Given the description of an element on the screen output the (x, y) to click on. 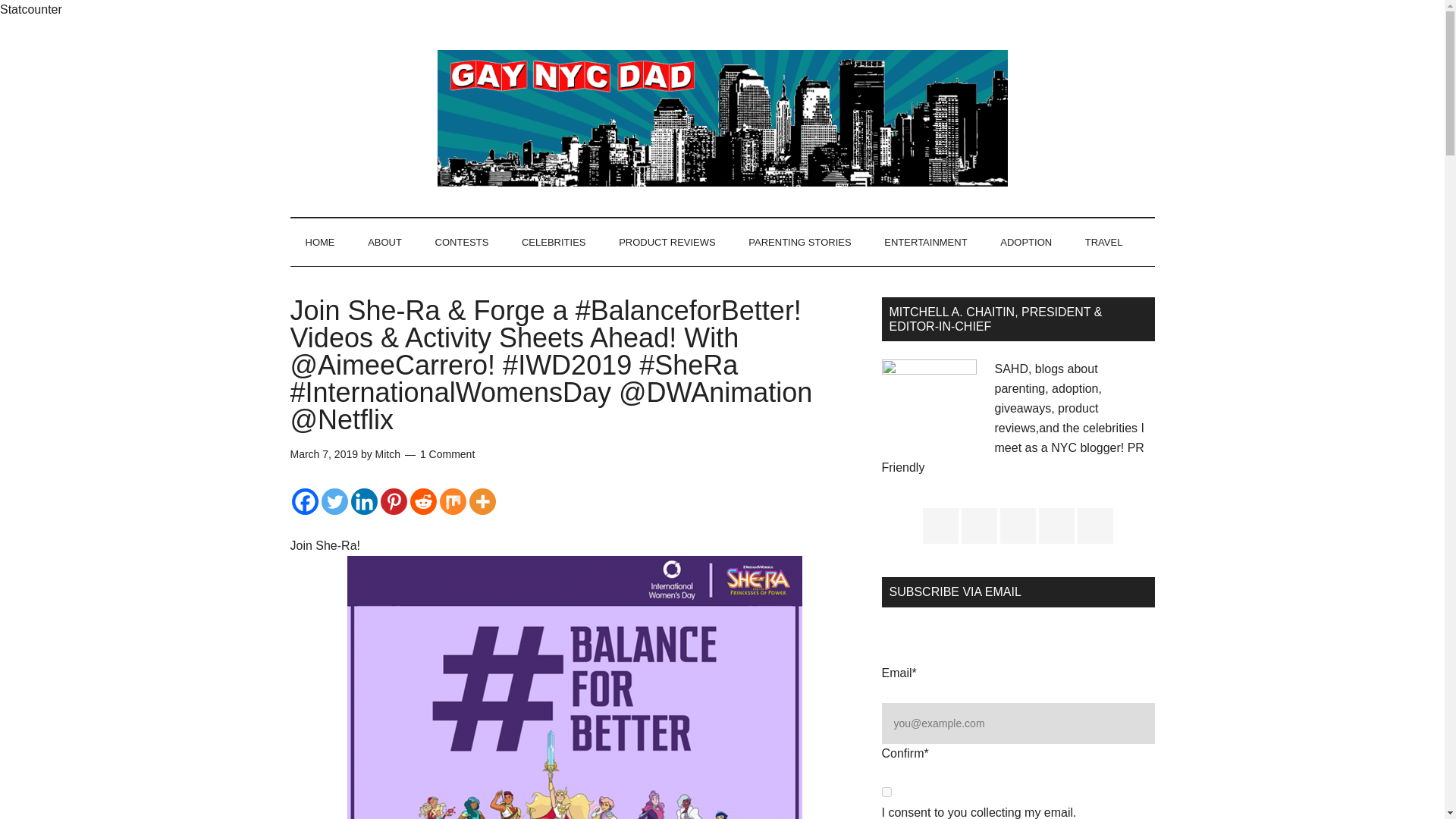
Reddit (422, 501)
HOME (319, 242)
Gay NYC Dad (721, 117)
PARENTING STORIES (799, 242)
1 Comment (447, 453)
Twitter (334, 501)
ADOPTION (1026, 242)
ENTERTAINMENT (925, 242)
yes (885, 791)
Facebook (304, 501)
ABOUT (384, 242)
Mitch (387, 453)
Mix (452, 501)
CONTESTS (461, 242)
